Given the description of an element on the screen output the (x, y) to click on. 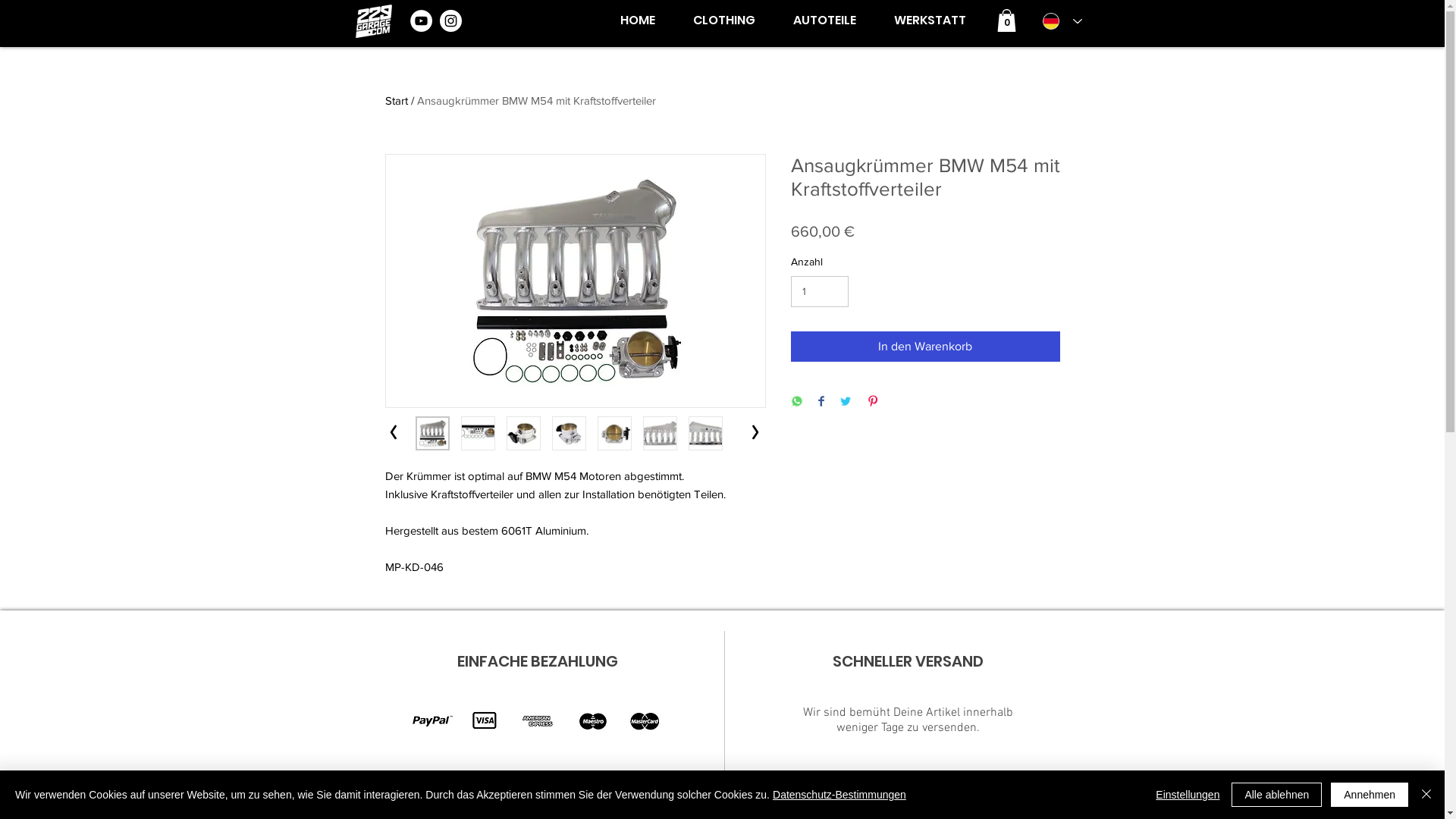
In den Warenkorb Element type: text (924, 346)
AUTOTEILE Element type: text (823, 20)
Start Element type: text (396, 100)
0 Element type: text (1005, 20)
HOME Element type: text (636, 20)
CLOTHING Element type: text (723, 20)
Alle ablehnen Element type: text (1276, 794)
WERKSTATT Element type: text (930, 20)
Annehmen Element type: text (1369, 794)
Datenschutz-Bestimmungen Element type: text (839, 794)
